Given the description of an element on the screen output the (x, y) to click on. 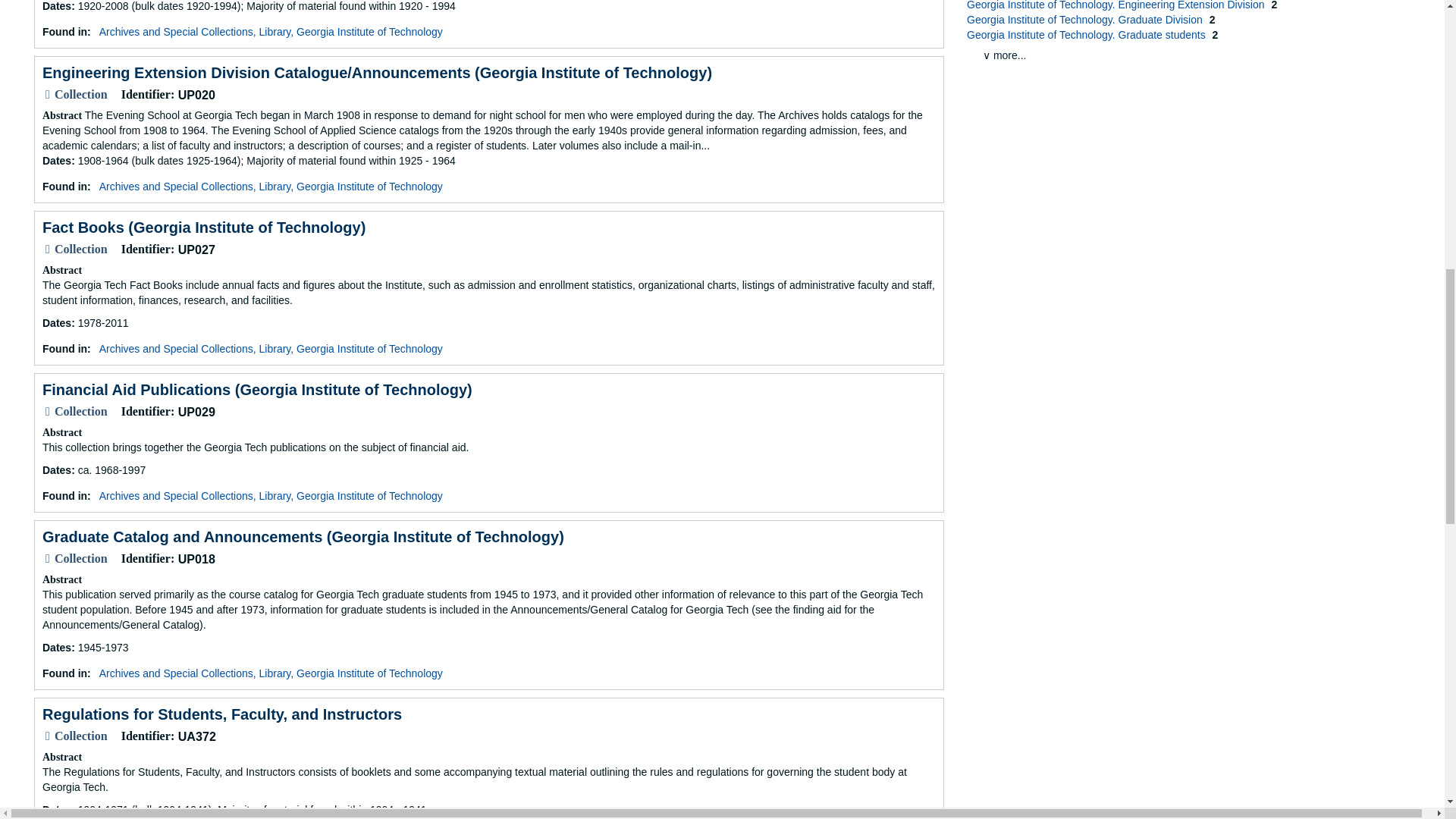
translation missing: en.dates (56, 6)
translation missing: en.dates (56, 647)
Regulations for Students, Faculty, and Instructors (221, 713)
translation missing: en.dates (56, 809)
translation missing: en.dates (56, 322)
translation missing: en.dates (56, 160)
translation missing: en.dates (56, 469)
